Given the description of an element on the screen output the (x, y) to click on. 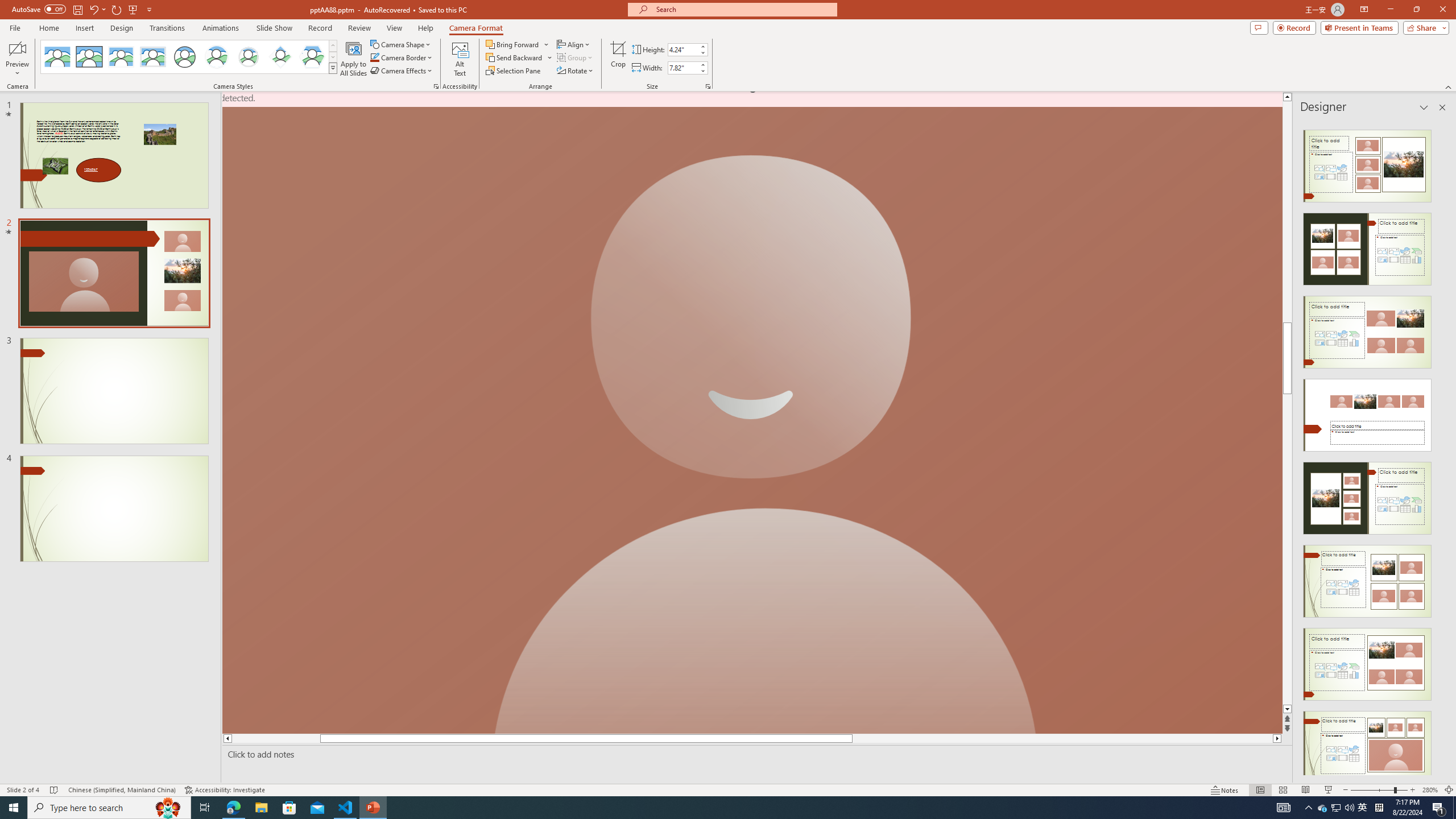
Size and Position... (707, 85)
Crop (617, 58)
Soft Edge Rectangle (152, 56)
Zoom 280% (1430, 790)
Camera 19, No camera detected. (752, 412)
Send Backward (518, 56)
